Given the description of an element on the screen output the (x, y) to click on. 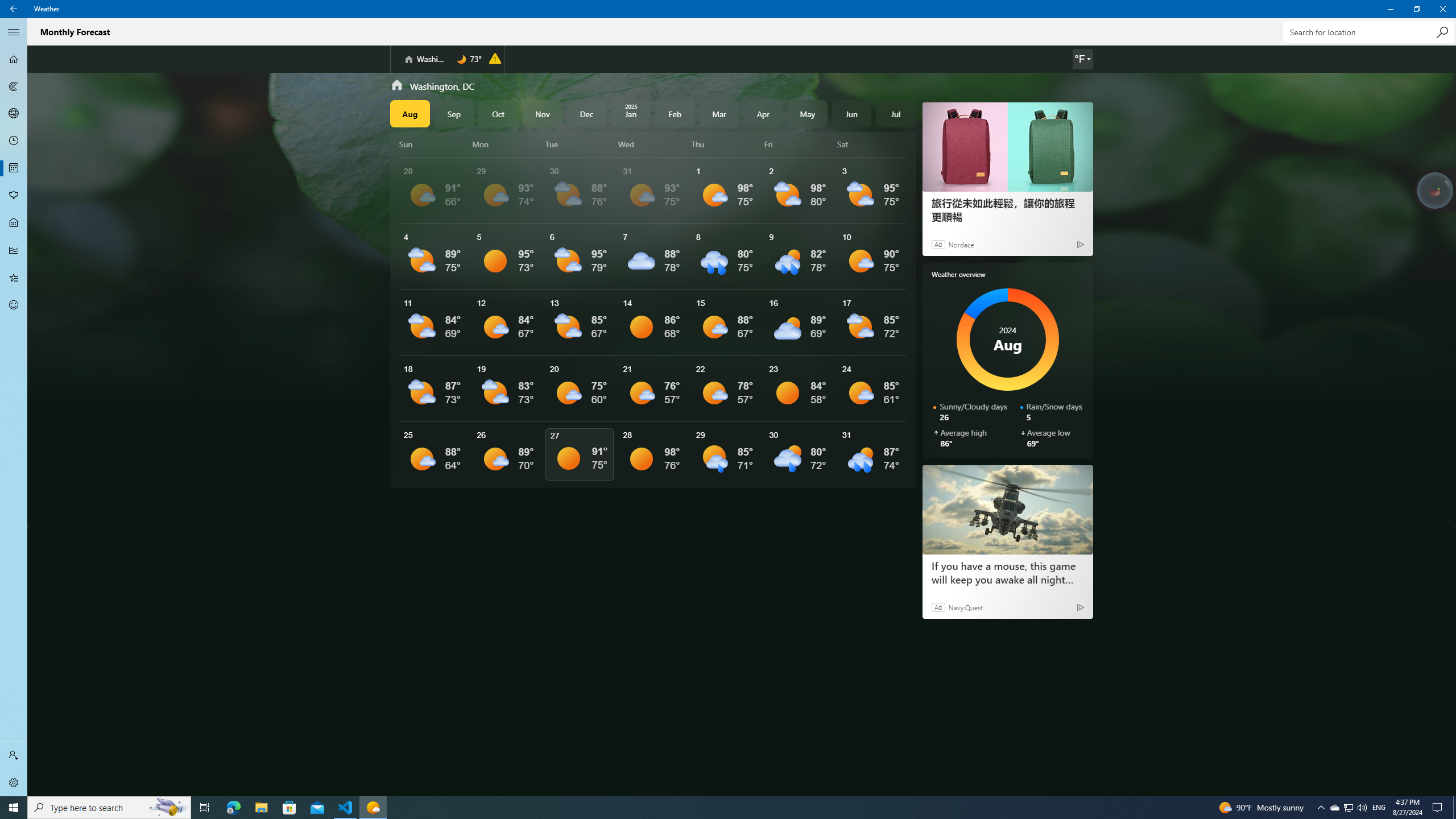
Forecast - Not Selected (13, 58)
Search (1442, 31)
Pollen - Not Selected (13, 195)
Favorites - Not Selected (13, 277)
Close Weather (1442, 9)
Maps - Not Selected (13, 85)
Historical Weather - Not Selected (13, 249)
Life - Not Selected (13, 222)
